Given the description of an element on the screen output the (x, y) to click on. 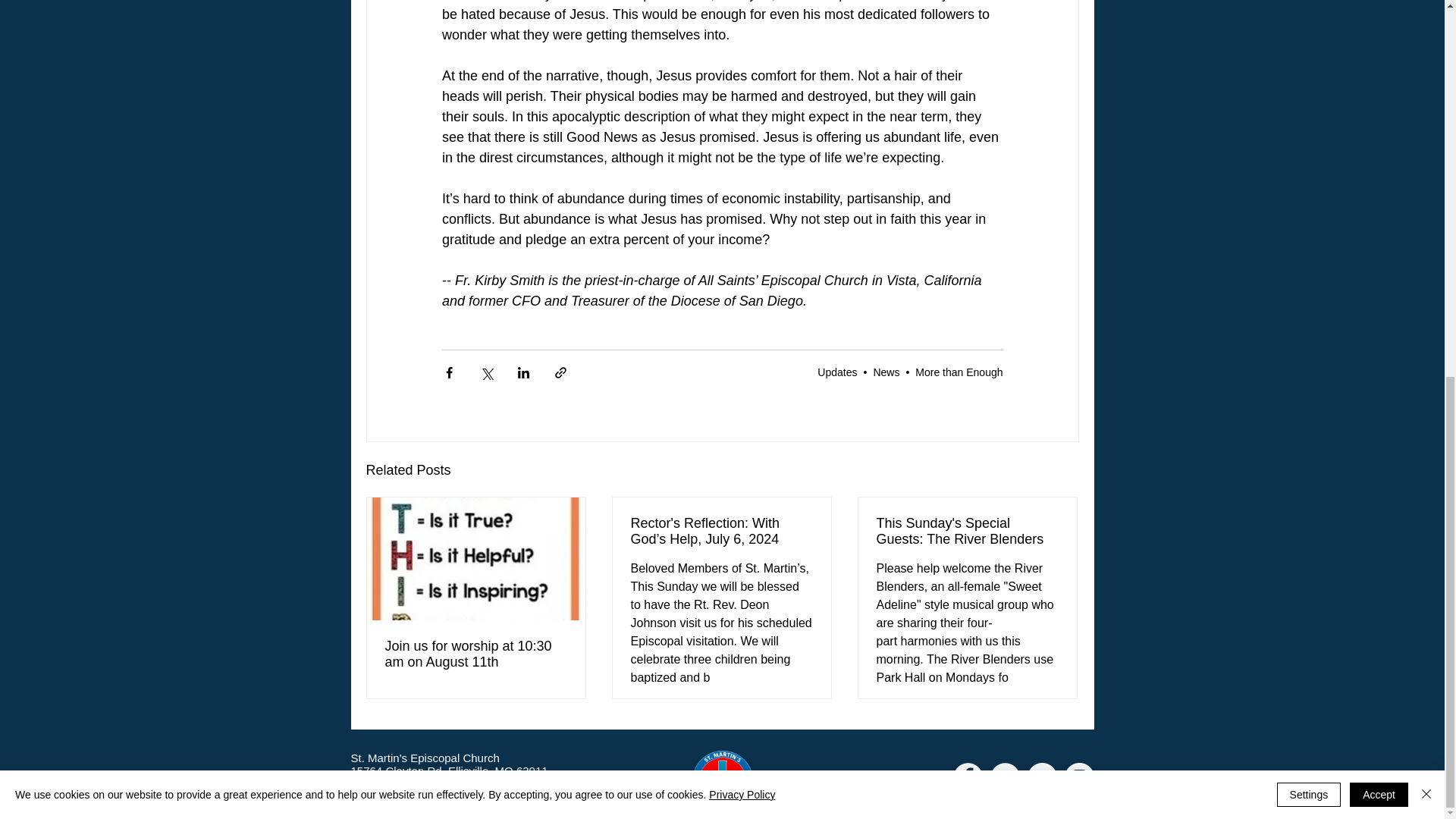
News (885, 372)
Updates (836, 372)
More than Enough (959, 372)
Join us for worship at 10:30 am on August 11th (476, 654)
